Given the description of an element on the screen output the (x, y) to click on. 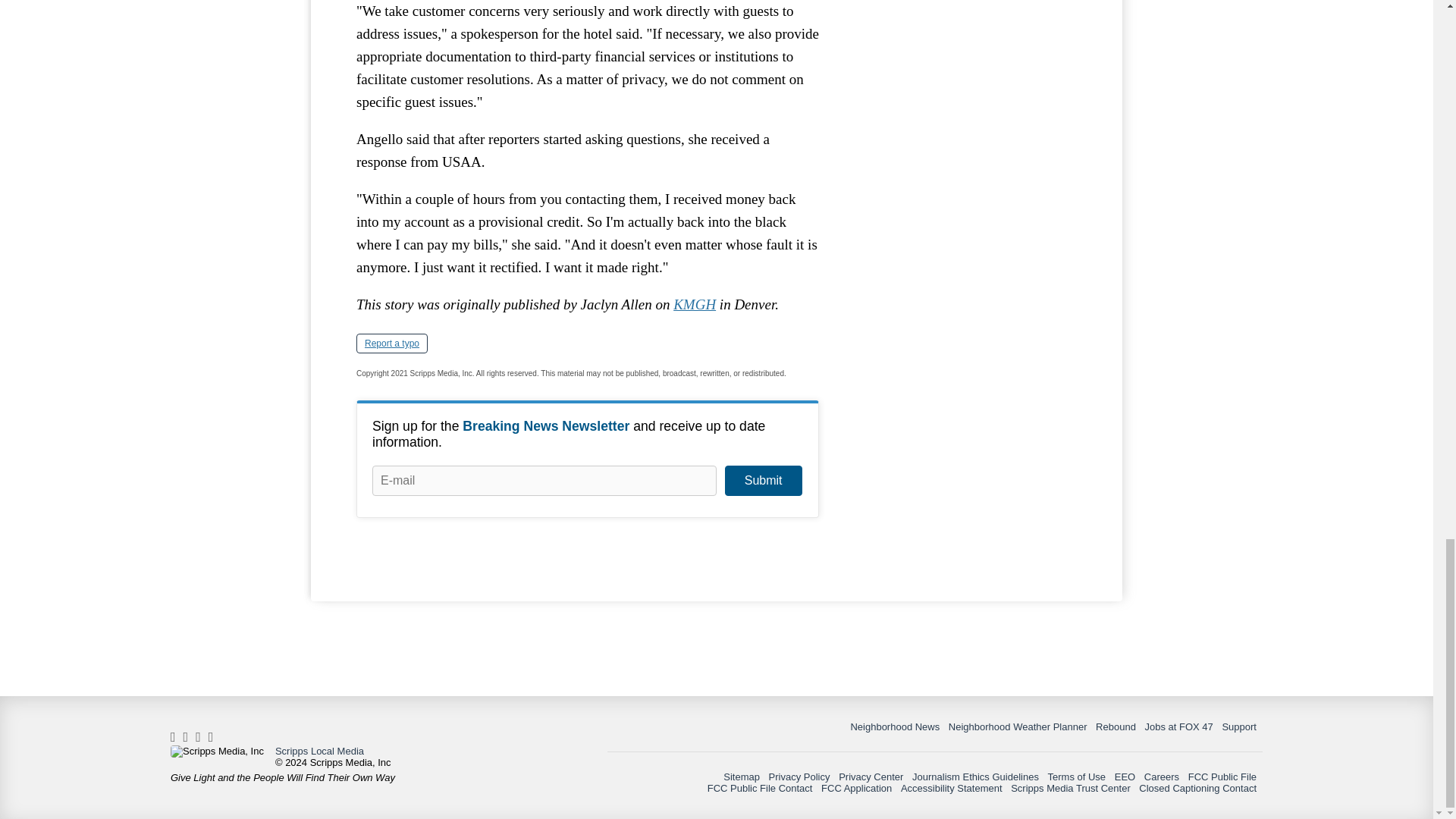
Submit (763, 481)
